Given the description of an element on the screen output the (x, y) to click on. 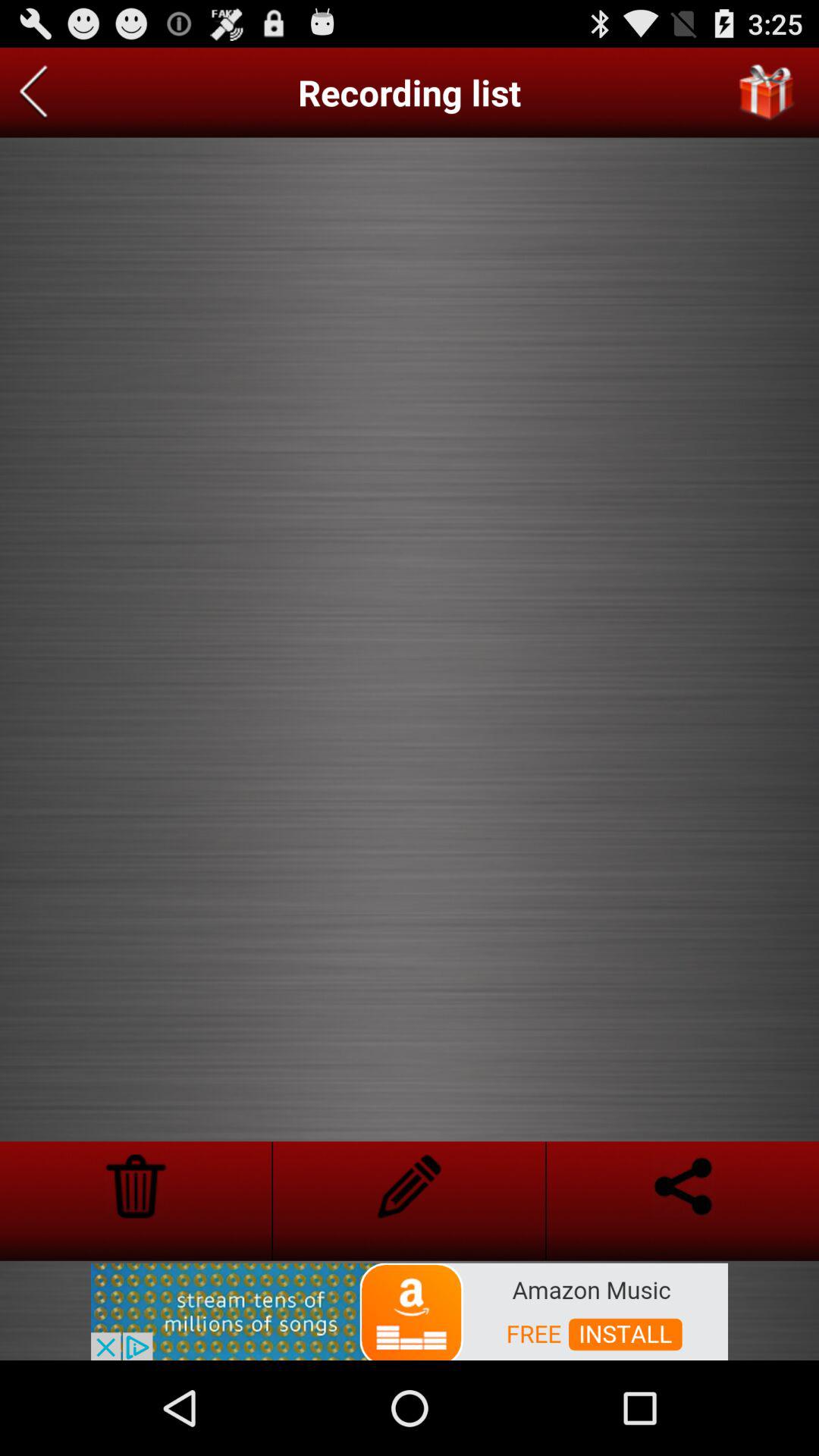
gift box (767, 92)
